Given the description of an element on the screen output the (x, y) to click on. 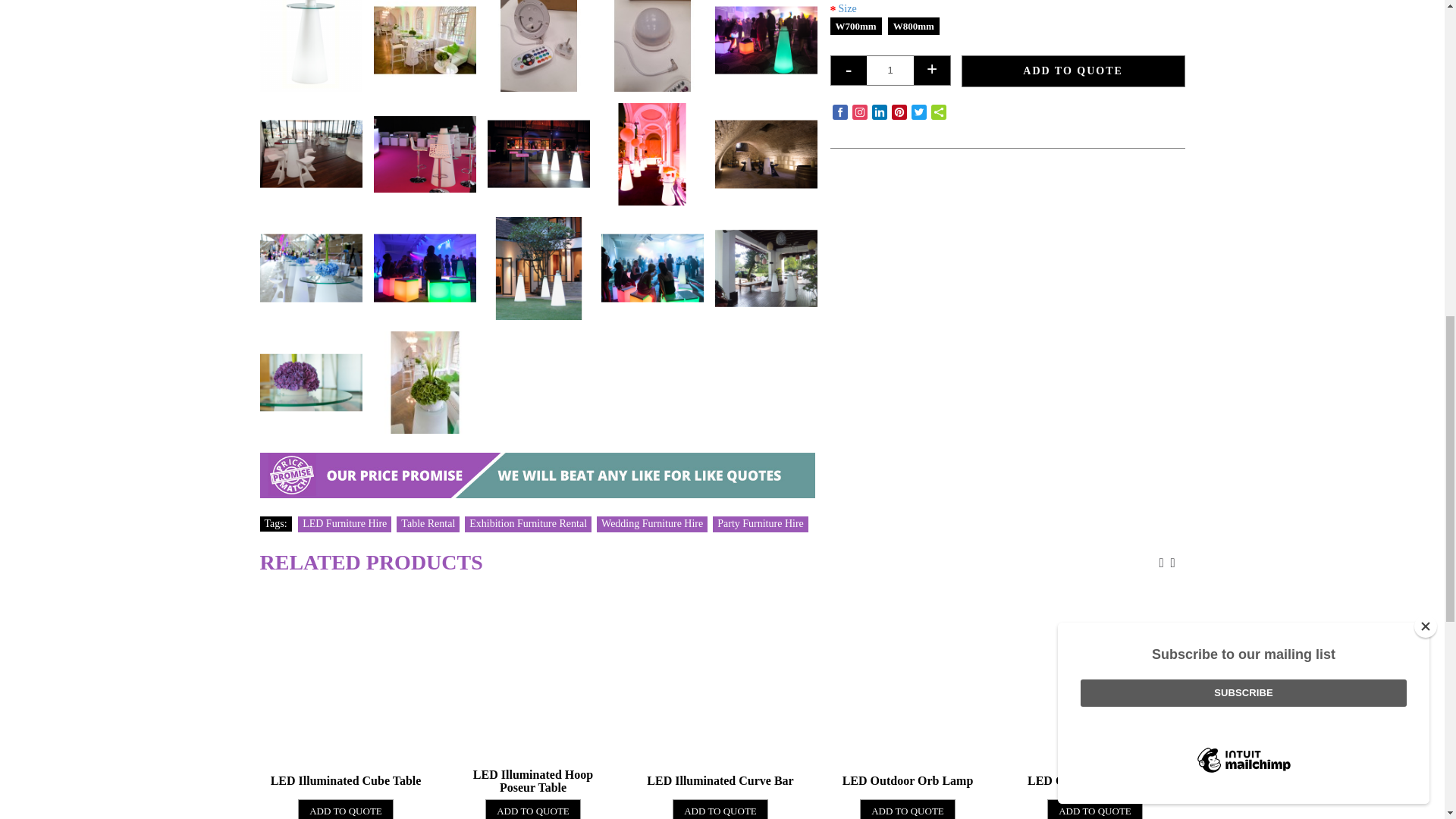
1 (890, 70)
LED Cone Poseur Table (315, 45)
LED Cone Poseur Table (430, 45)
LED Cone Poseur Table (430, 148)
LED Cone Poseur Table (652, 45)
LED Cone Poseur Table (657, 148)
LED Cone Poseur Table (771, 45)
LED Cone Poseur Table (315, 148)
LED Cone Poseur Table (544, 148)
LED Cone Poseur Table (425, 45)
LED Cone Poseur Table (310, 154)
LED Cone Poseur Table (310, 45)
LED Cone Poseur Table (765, 45)
LED Cone Poseur Table (538, 154)
LED Cone Poseur Table (538, 45)
